Given the description of an element on the screen output the (x, y) to click on. 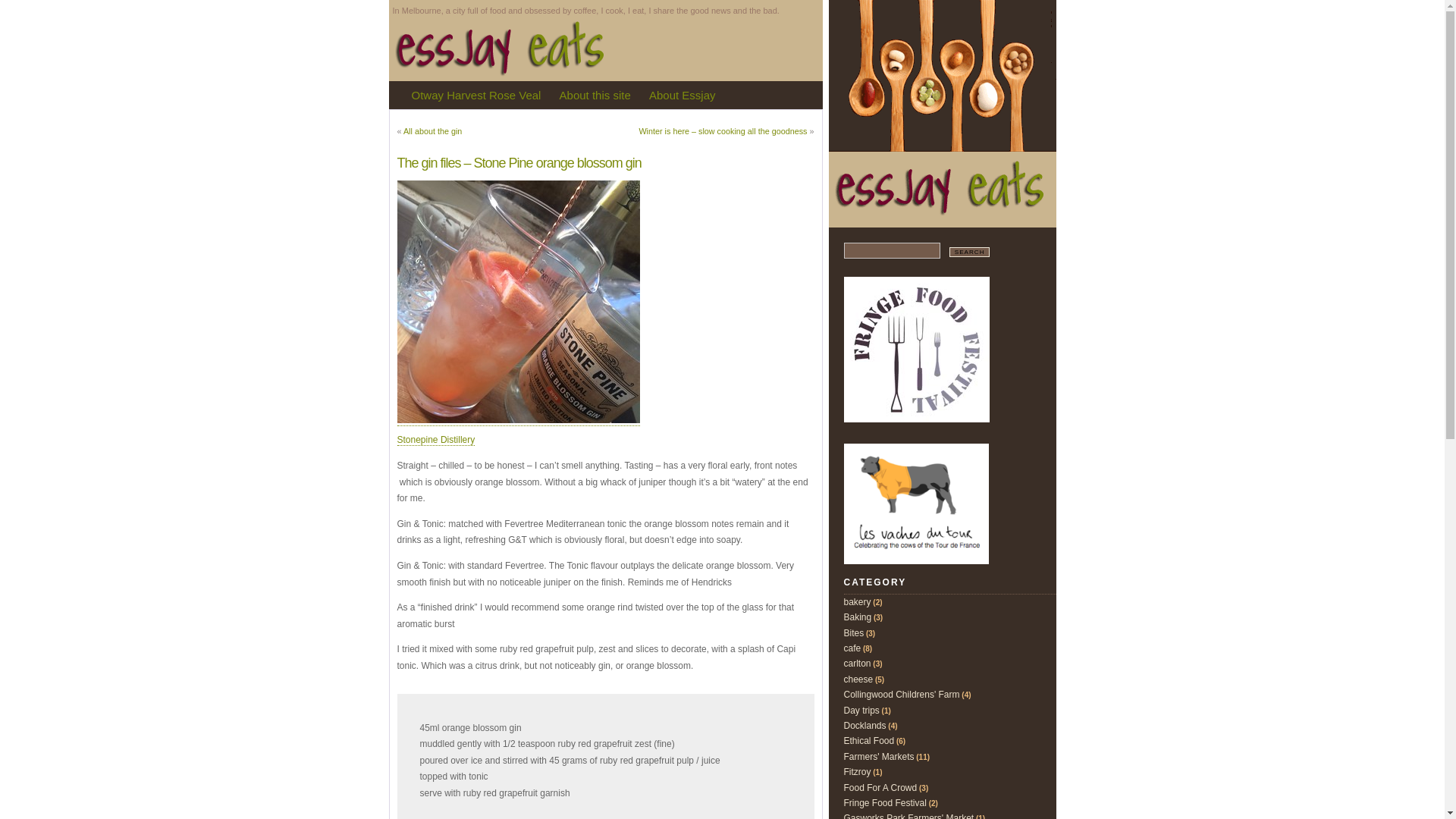
carlton Element type: text (856, 663)
Ethical Food Element type: text (868, 740)
Stonepine Distillery Element type: text (436, 439)
Farmers' Markets Element type: text (878, 756)
Baking Element type: text (857, 616)
bakery Element type: text (856, 601)
Docklands Element type: text (864, 725)
Bites Element type: text (853, 632)
All about the gin Element type: text (432, 130)
Collingwood Childrens' Farm Element type: text (901, 694)
Day trips Element type: text (860, 710)
About this site Element type: text (594, 94)
Fitzroy Element type: text (856, 771)
cheese Element type: text (857, 679)
About Essjay Element type: text (682, 94)
cafe Element type: text (851, 648)
Fringe Food Festival Element type: text (884, 802)
Food For A Crowd Element type: text (879, 787)
Otway Harvest Rose Veal Element type: text (475, 94)
Search Element type: text (969, 252)
